Given the description of an element on the screen output the (x, y) to click on. 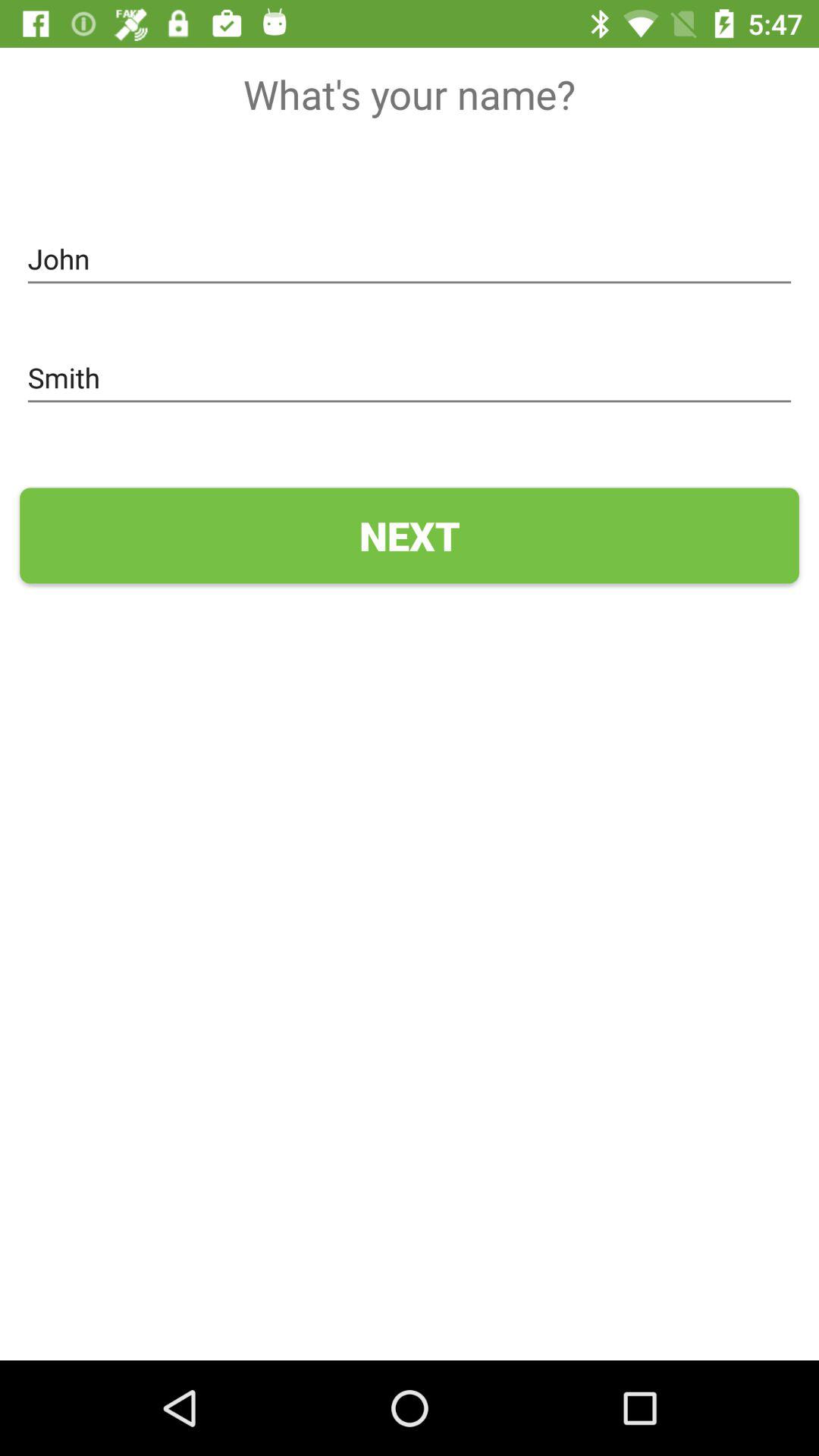
choose icon below the smith (409, 535)
